Given the description of an element on the screen output the (x, y) to click on. 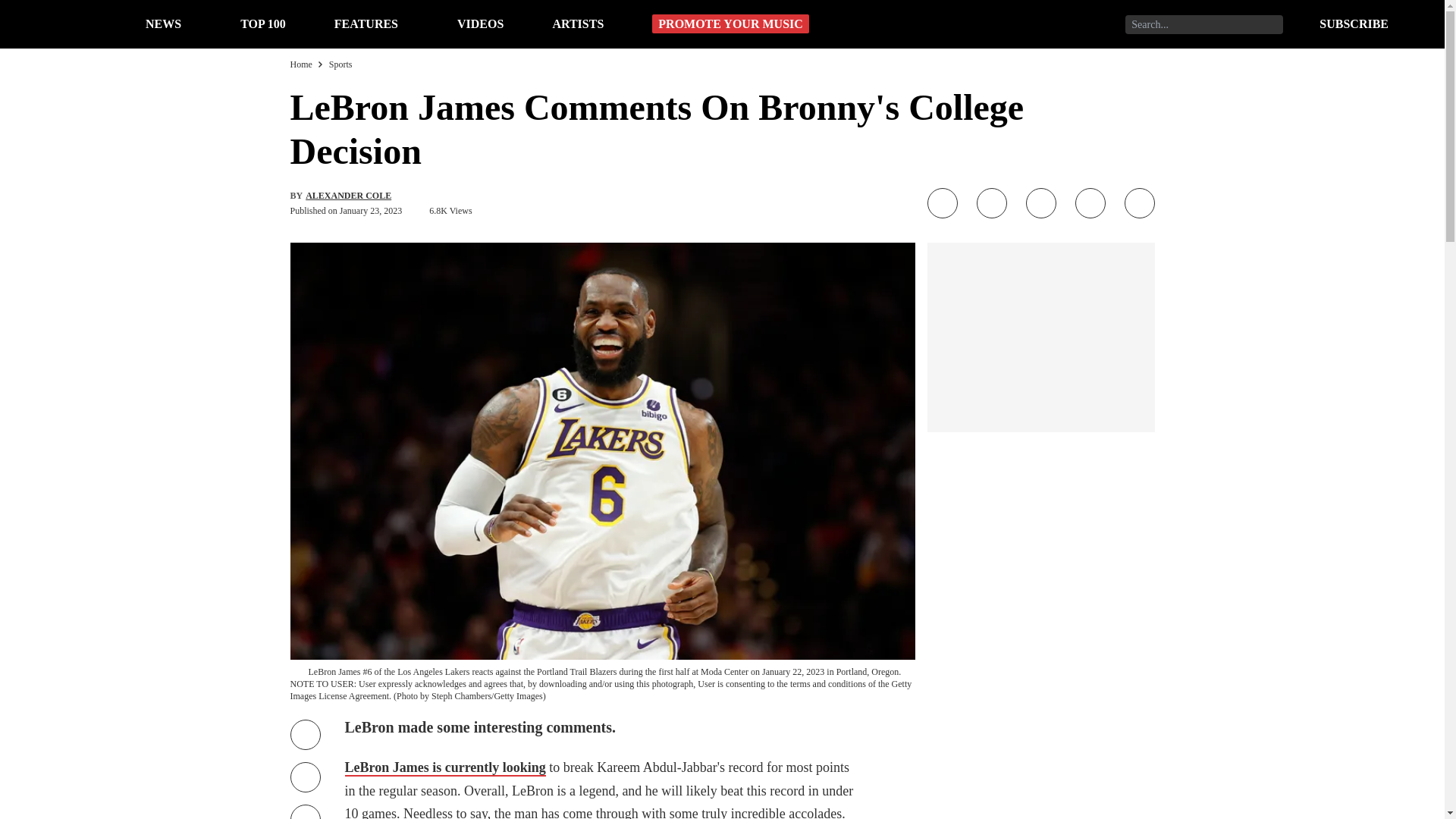
FEATURES (365, 23)
LeBron James is currently looking (443, 768)
Home (300, 63)
Sports (340, 63)
TOP 100 (262, 23)
January 23, 2023 (370, 210)
NEWS (162, 23)
ALEXANDER COLE (348, 195)
